Given the description of an element on the screen output the (x, y) to click on. 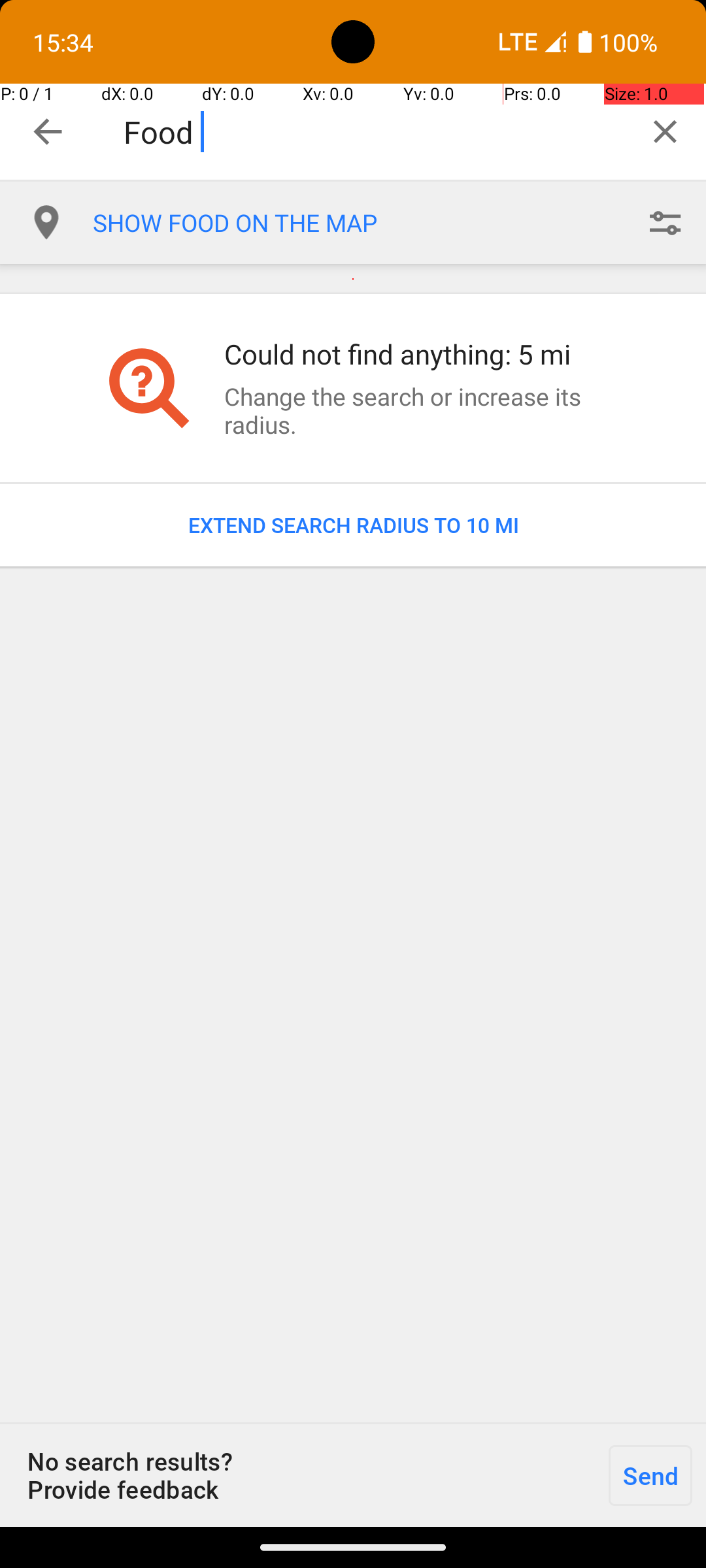
No search results?
Provide feedback Element type: android.widget.TextView (297, 1475)
Food  Element type: android.widget.EditText (373, 131)
SHOW FOOD ON THE MAP Element type: android.widget.TextView (357, 222)
Custom filter Element type: android.widget.ImageButton (664, 222)
Send Element type: android.widget.TextView (650, 1475)
Could not find anything: 5 mi Element type: android.widget.TextView (414, 353)
Change the search or increase its radius. Element type: android.widget.TextView (414, 410)
EXTEND SEARCH RADIUS TO 10 MI Element type: android.widget.TextView (352, 524)
